Given the description of an element on the screen output the (x, y) to click on. 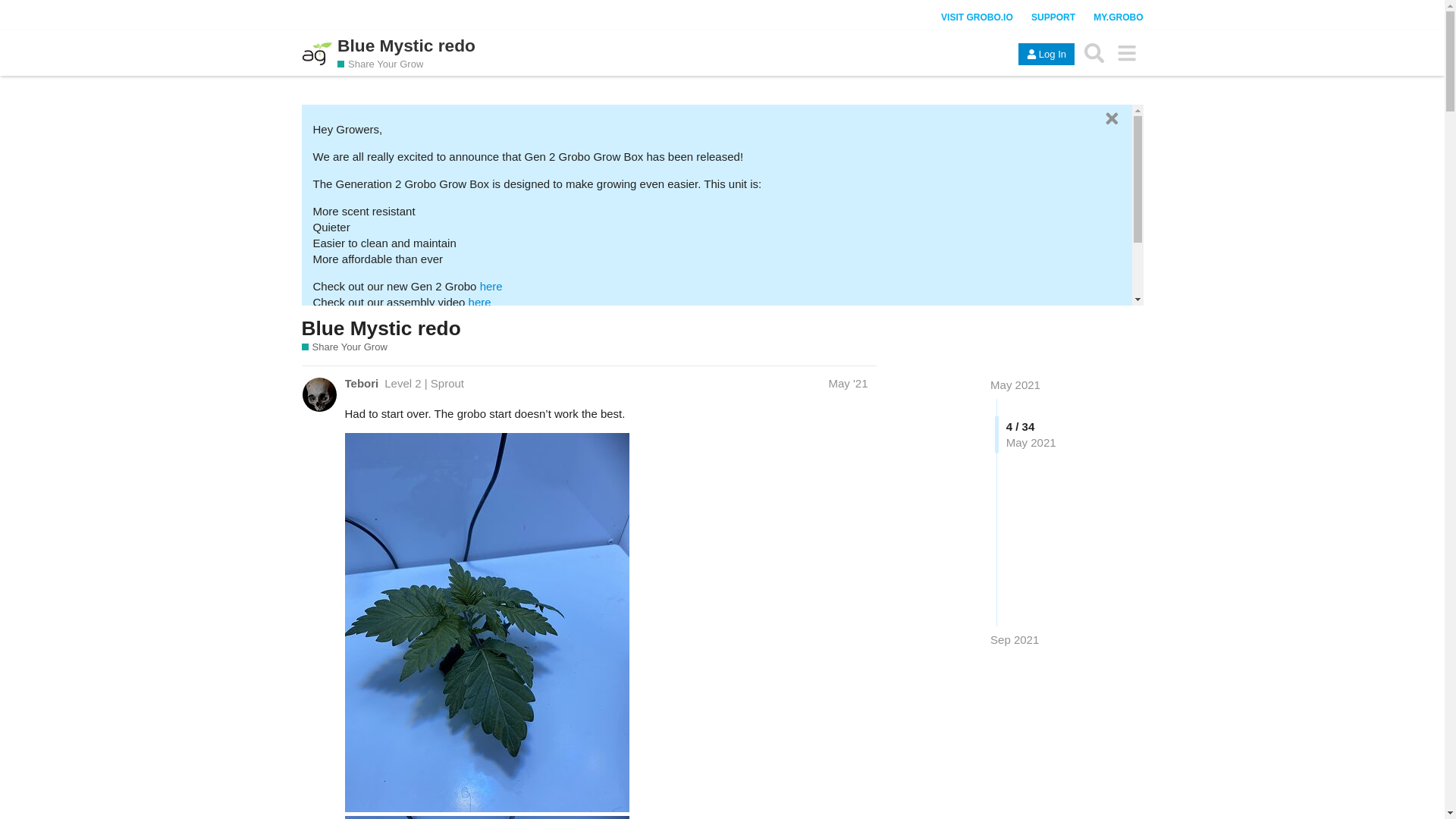
menu (1126, 52)
here (491, 286)
VISIT GROBO.IO (976, 17)
May 2021 (1015, 384)
Dismiss this banner. (1110, 118)
May 19, 2021 10:44 am (847, 382)
May 2021 (1015, 384)
SUPPORT (1052, 17)
Share Your Grow (344, 346)
MY.GROBO (1117, 17)
here (480, 301)
image (485, 817)
here (397, 318)
Log In (1045, 54)
Share Your Grow (380, 64)
